Given the description of an element on the screen output the (x, y) to click on. 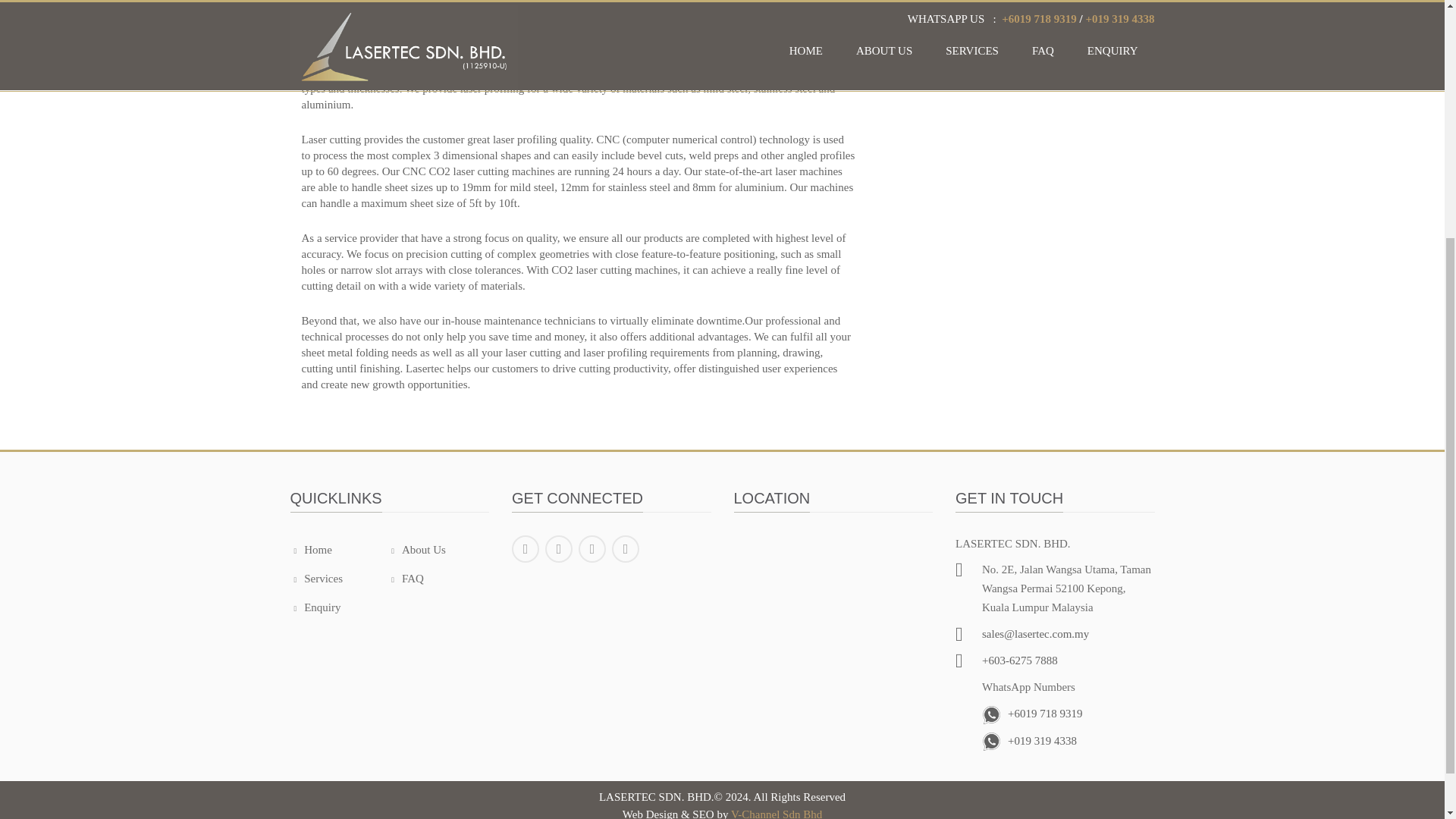
Services (318, 578)
Enquiry (317, 607)
About Us (418, 549)
FAQ (407, 578)
Home (312, 549)
